Given the description of an element on the screen output the (x, y) to click on. 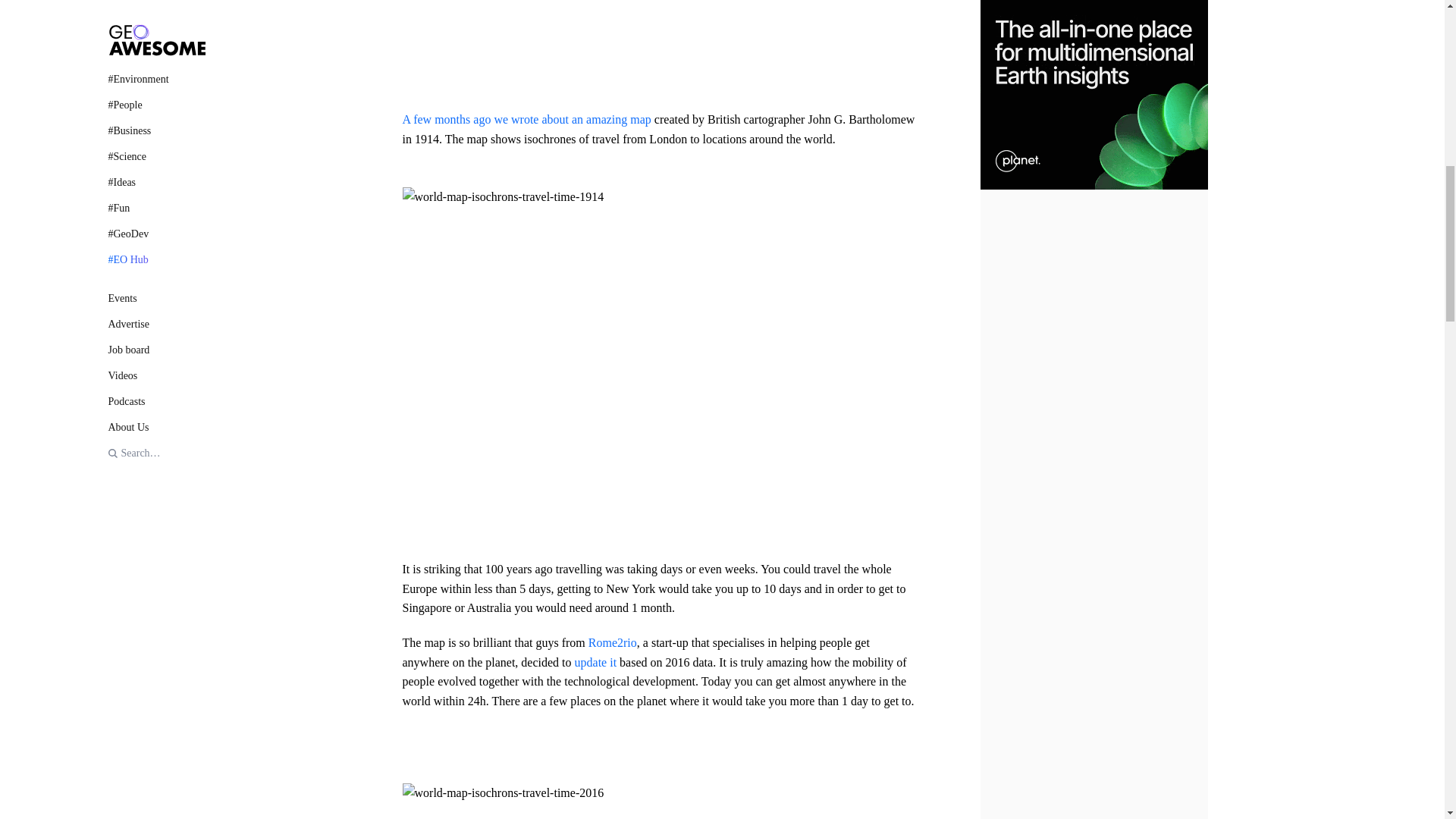
A few months ago we wrote about an amazing map (525, 119)
Rome2rio (612, 642)
update it (596, 662)
